Given the description of an element on the screen output the (x, y) to click on. 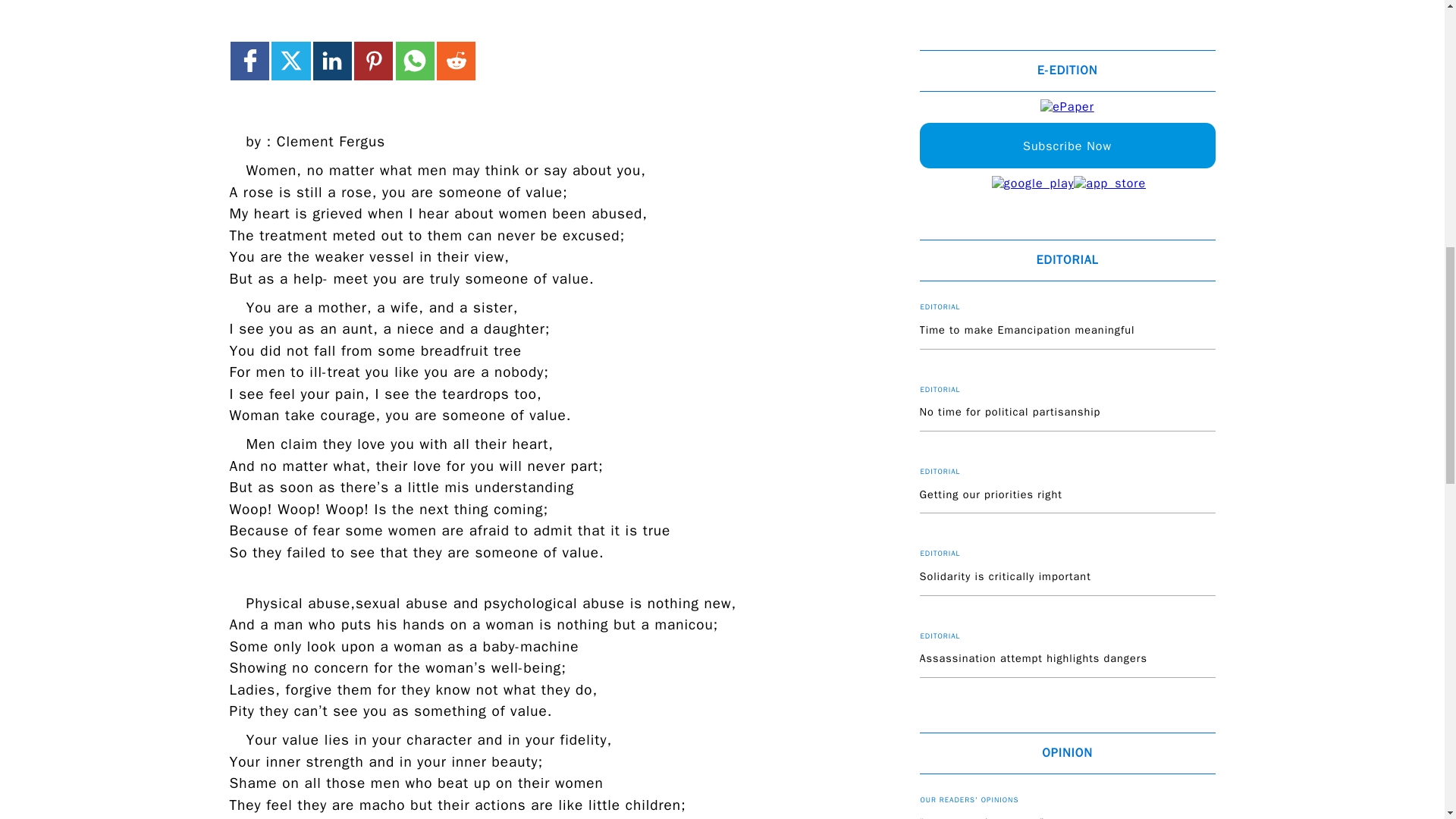
ePaper (1067, 107)
